Given the description of an element on the screen output the (x, y) to click on. 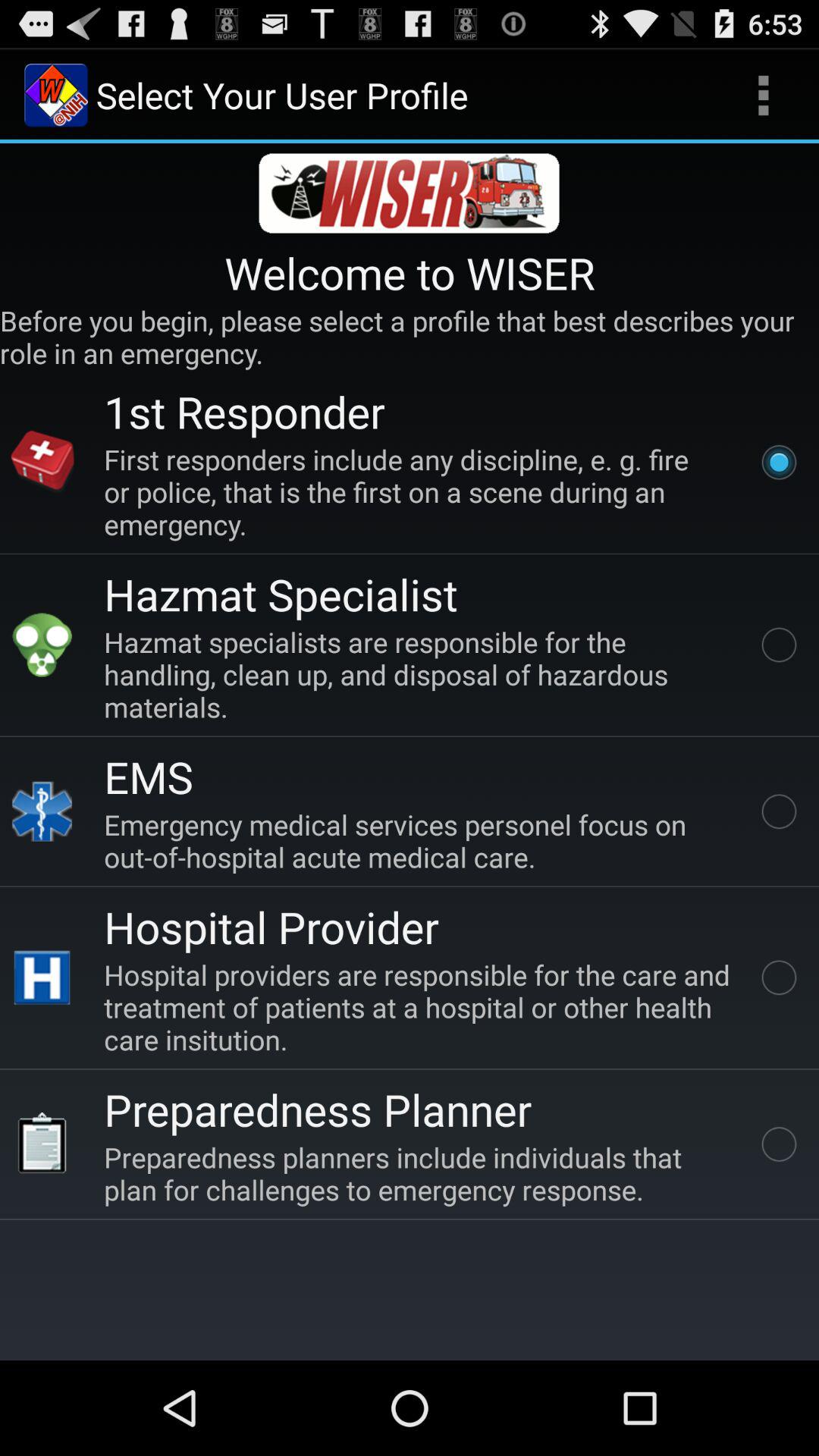
turn off the 1st responder (244, 411)
